Given the description of an element on the screen output the (x, y) to click on. 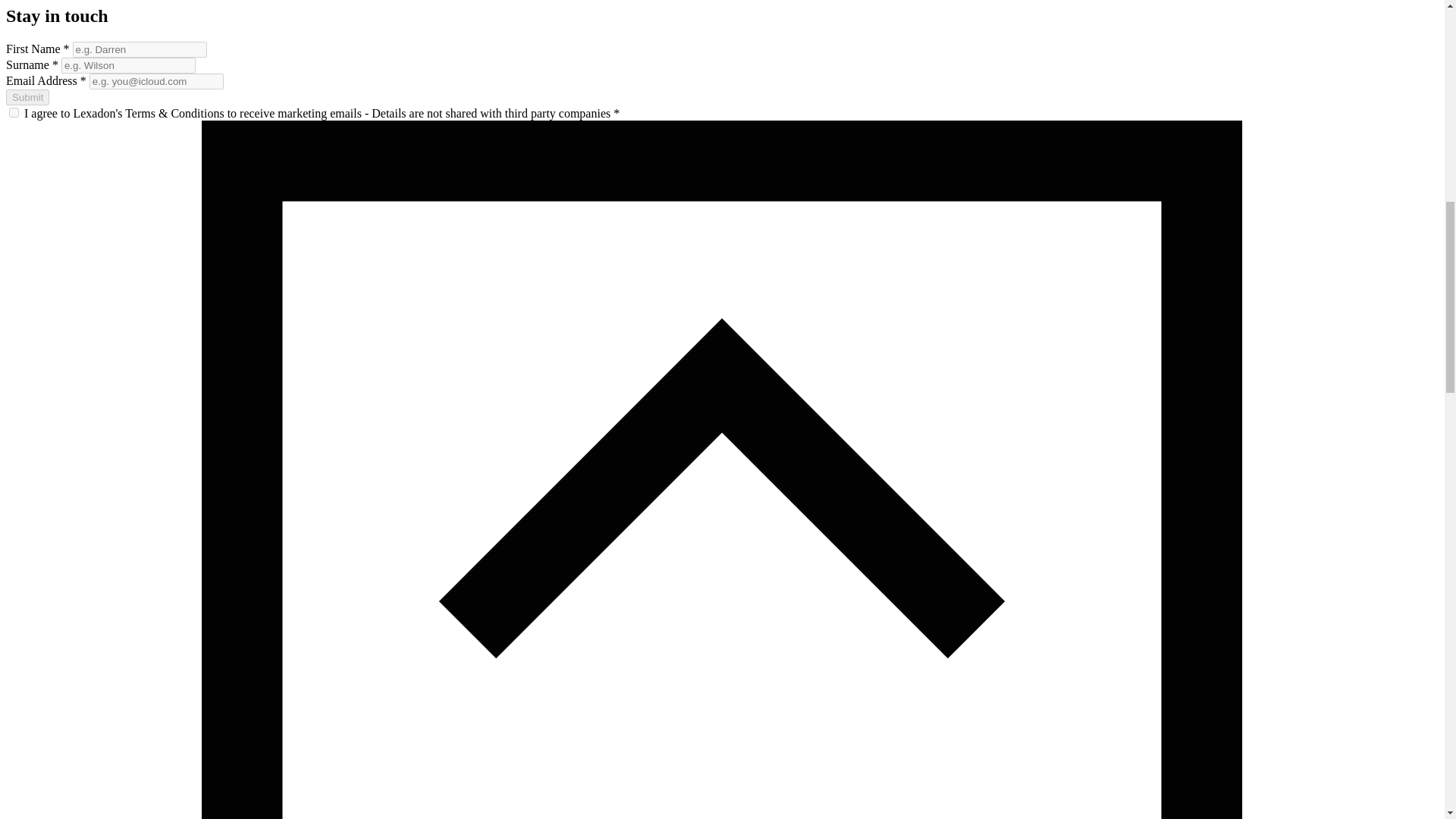
Submit (27, 97)
on (13, 112)
Submit (27, 97)
